Given the description of an element on the screen output the (x, y) to click on. 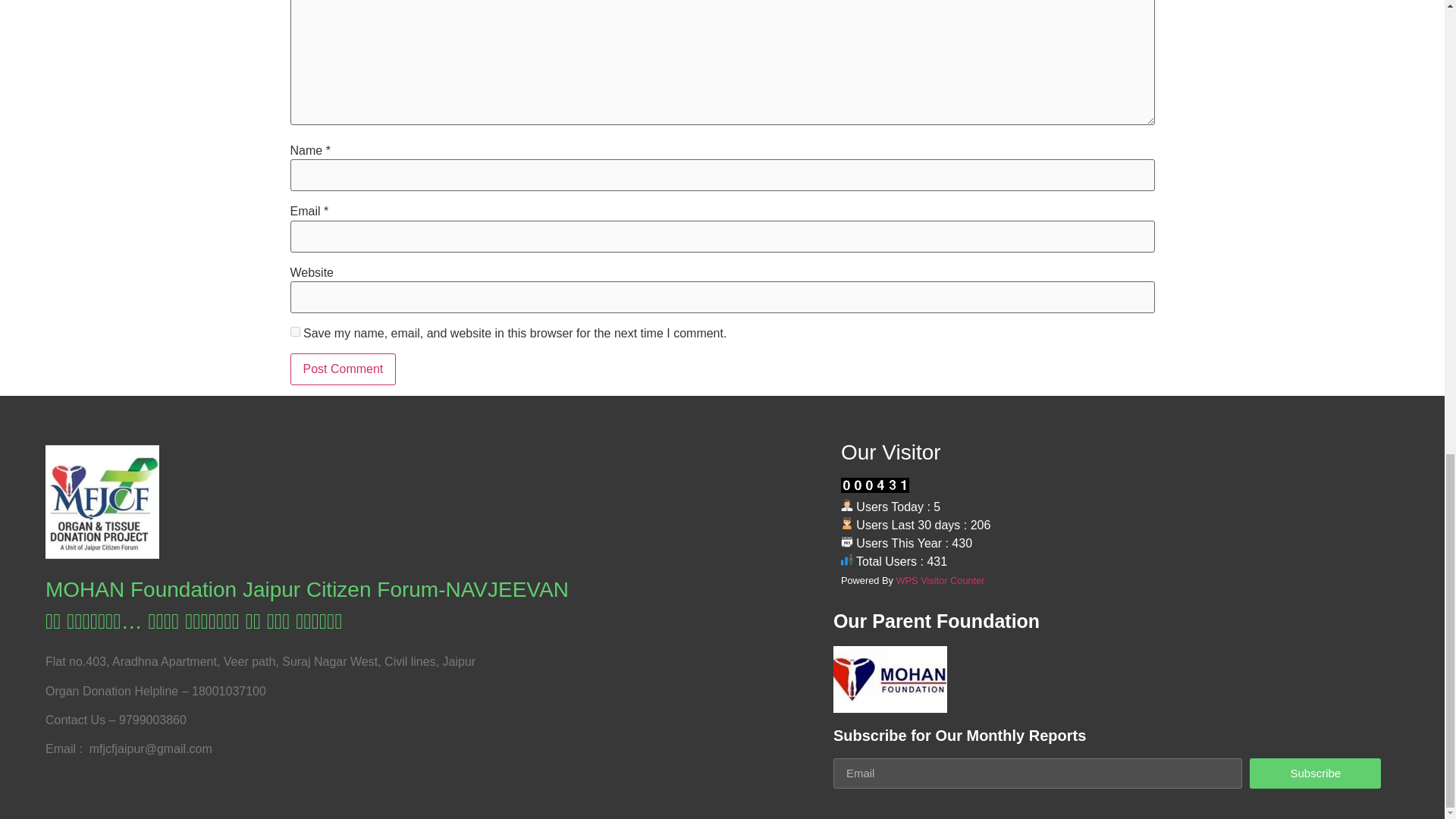
yes (294, 331)
Post Comment (342, 368)
